Given the description of an element on the screen output the (x, y) to click on. 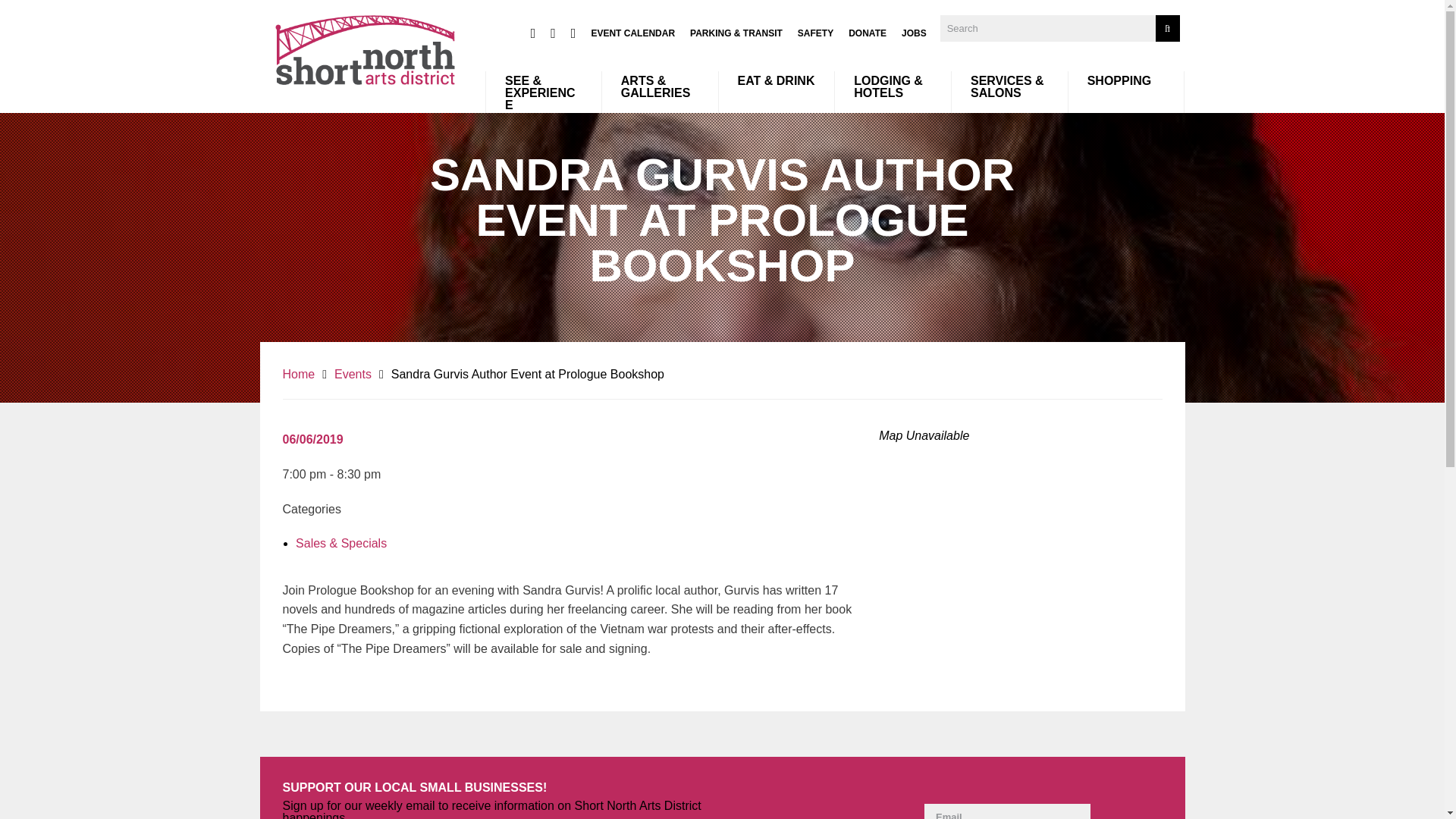
Search (1167, 28)
SAFETY (814, 32)
DONATE (867, 32)
JOBS (913, 32)
EVENT CALENDAR (633, 32)
